Given the description of an element on the screen output the (x, y) to click on. 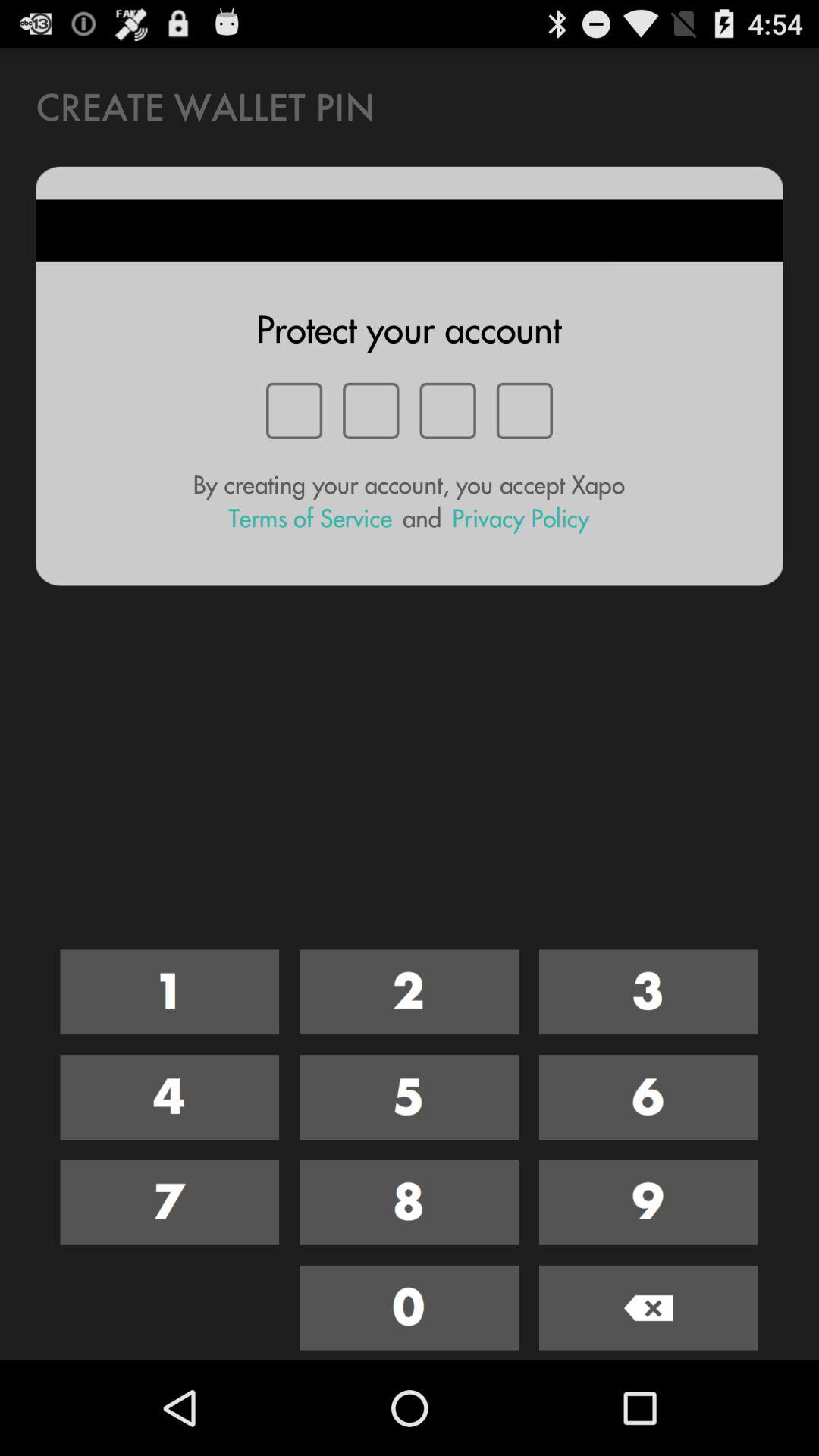
select icon next to the and icon (310, 518)
